Given the description of an element on the screen output the (x, y) to click on. 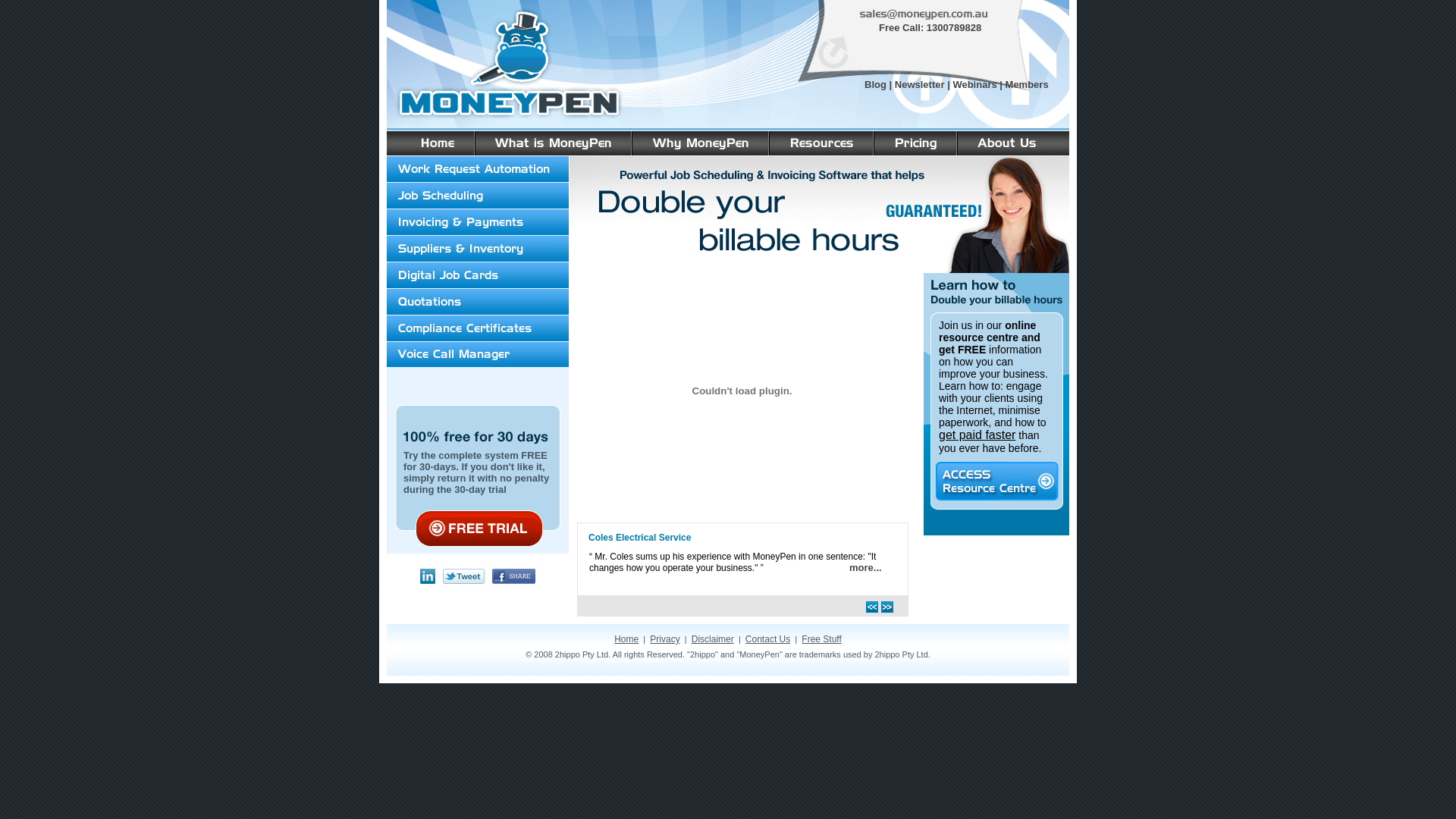
Animation Element type: hover (741, 503)
Members Element type: text (1026, 84)
Privacy Element type: text (664, 638)
Work Request Automation Element type: hover (477, 169)
Blog Element type: text (875, 84)
Compliance Certificates Element type: hover (477, 328)
get paid faster Element type: text (976, 434)
Invoicing & Payments Element type: hover (477, 222)
Facebook Element type: hover (513, 575)
sales@moneypen.com.au Element type: hover (923, 14)
FREE TRIAL Element type: hover (478, 528)
more... Element type: text (865, 567)
Digital Job Cards Element type: hover (477, 275)
Access Resource Centre Element type: hover (996, 480)
Home Element type: text (626, 638)
Twitter Element type: hover (463, 575)
Voice Call Manager Element type: hover (477, 354)
Job Scheduling Element type: hover (477, 195)
Newsletter Element type: text (919, 84)
Free Stuff Element type: text (820, 638)
Disclaimer Element type: text (712, 638)
Linkedin Element type: hover (427, 575)
Quotations  Element type: hover (477, 301)
Suppliers & Inventory Element type: hover (477, 248)
100% free for 30 days Element type: hover (475, 437)
Contact Us Element type: text (767, 638)
Webinars Element type: text (974, 84)
